Given the description of an element on the screen output the (x, y) to click on. 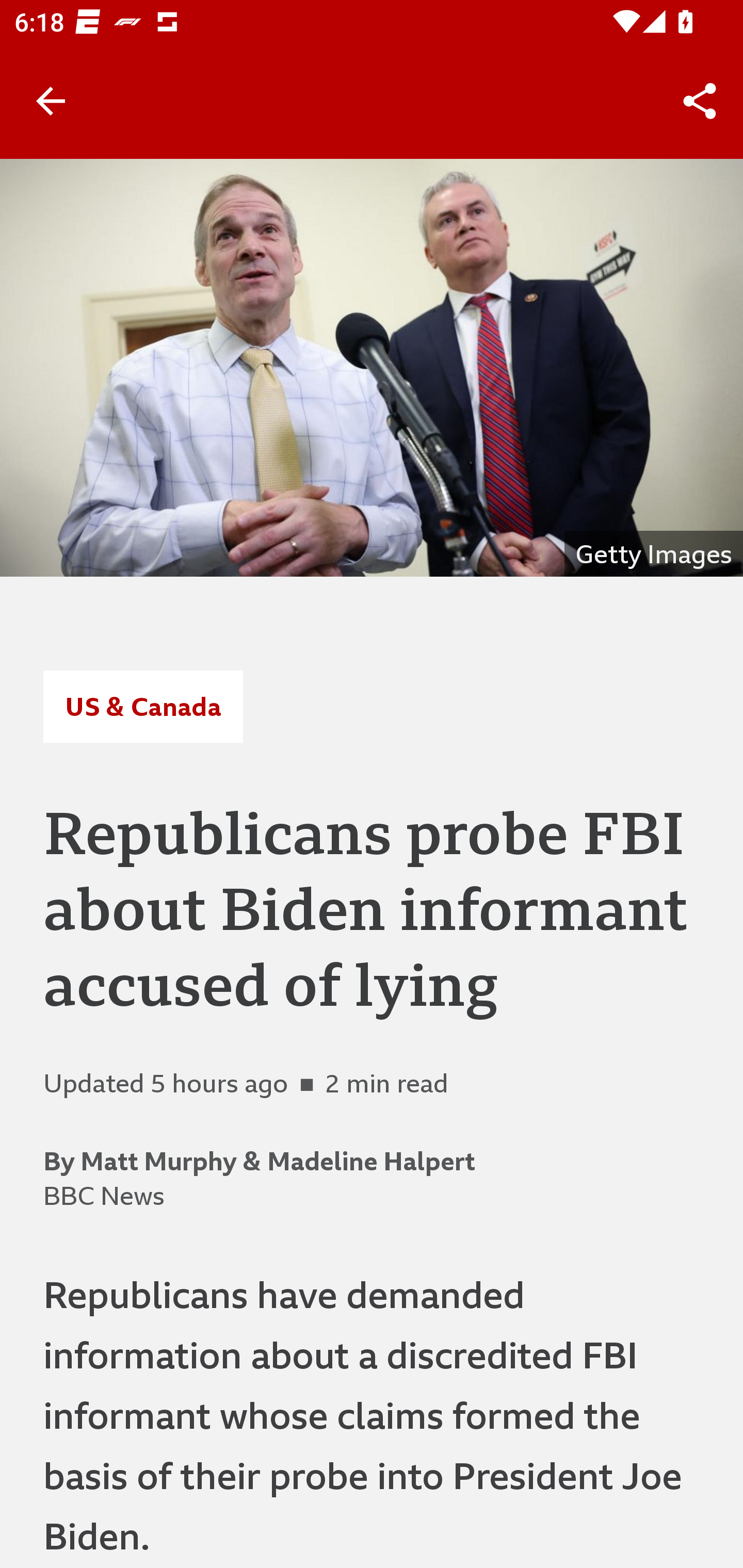
Back (50, 101)
Share (699, 101)
US & Canada (142, 706)
